Given the description of an element on the screen output the (x, y) to click on. 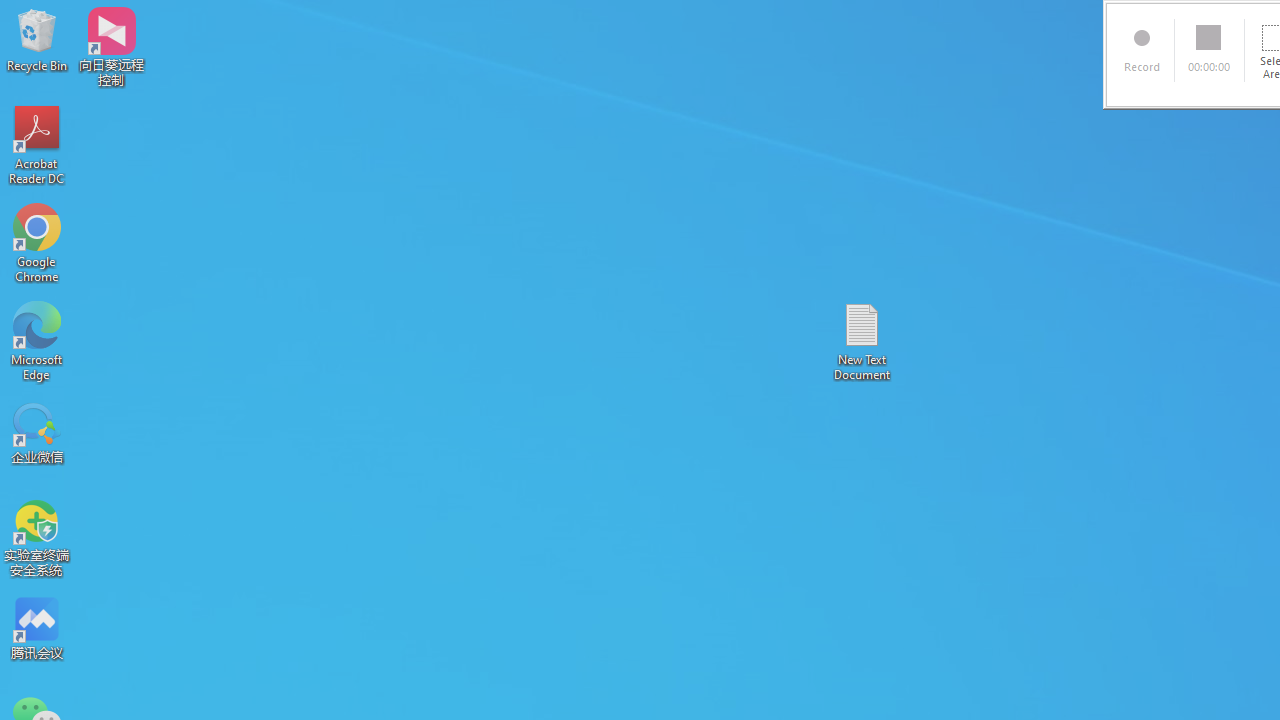
00:00:00 (1209, 50)
